Given the description of an element on the screen output the (x, y) to click on. 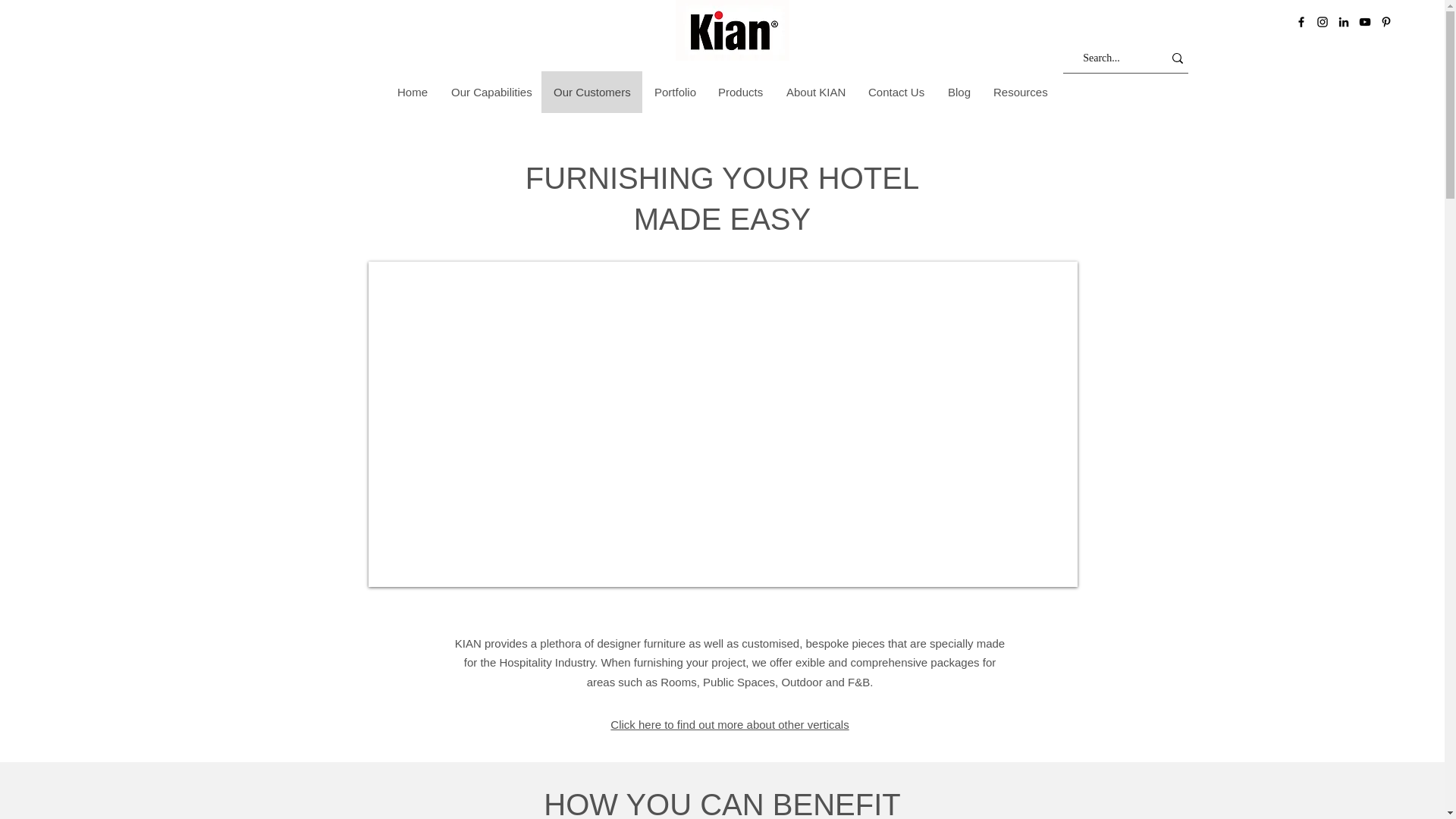
About KIAN (815, 92)
Blog (958, 92)
Products (740, 92)
Our Capabilities (490, 92)
Home (412, 92)
Contact Us (896, 92)
Our Customers (591, 92)
Resources (1020, 92)
Portfolio (674, 92)
